Given the description of an element on the screen output the (x, y) to click on. 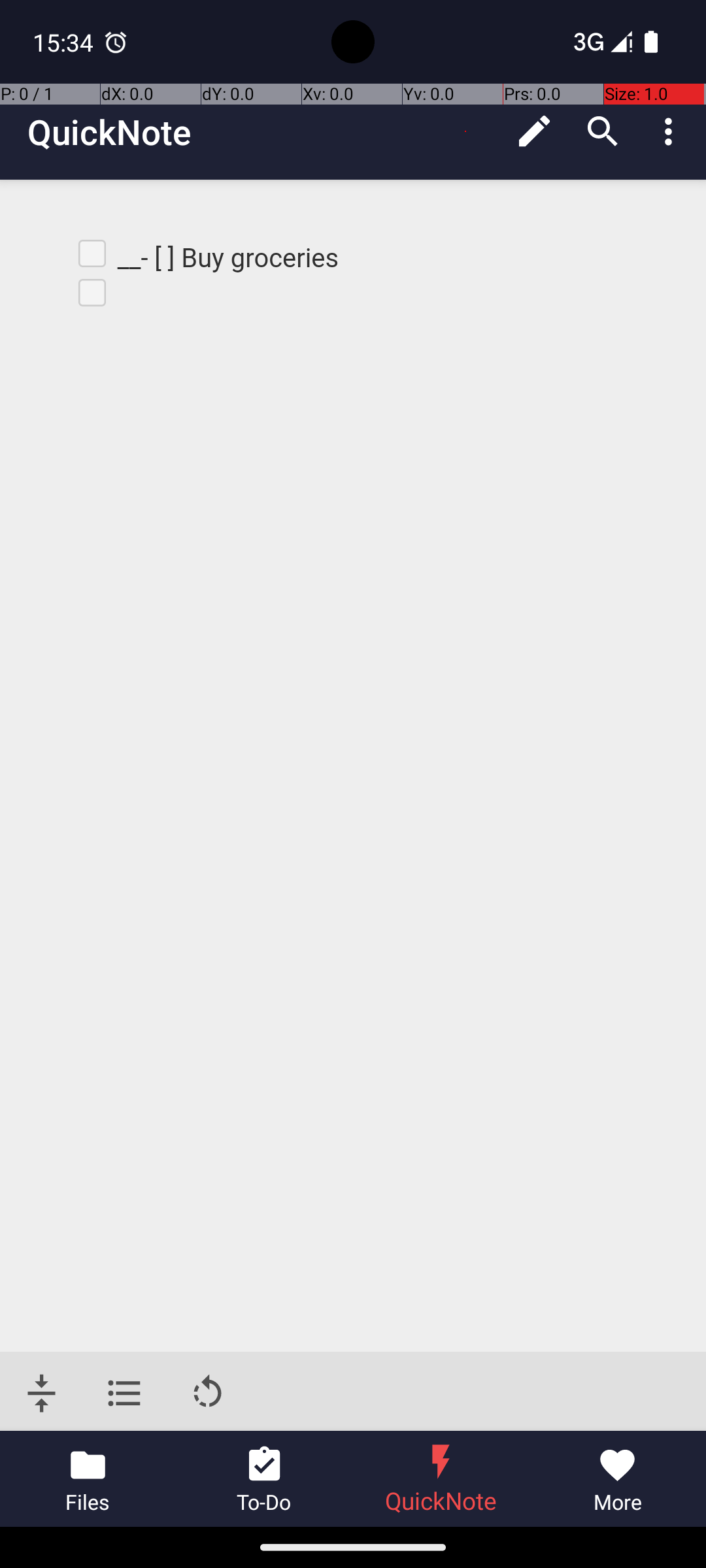
 __- [ ] Buy groceries Element type: android.widget.TextView (224, 257)
  Element type: android.widget.TextView (113, 296)
